Given the description of an element on the screen output the (x, y) to click on. 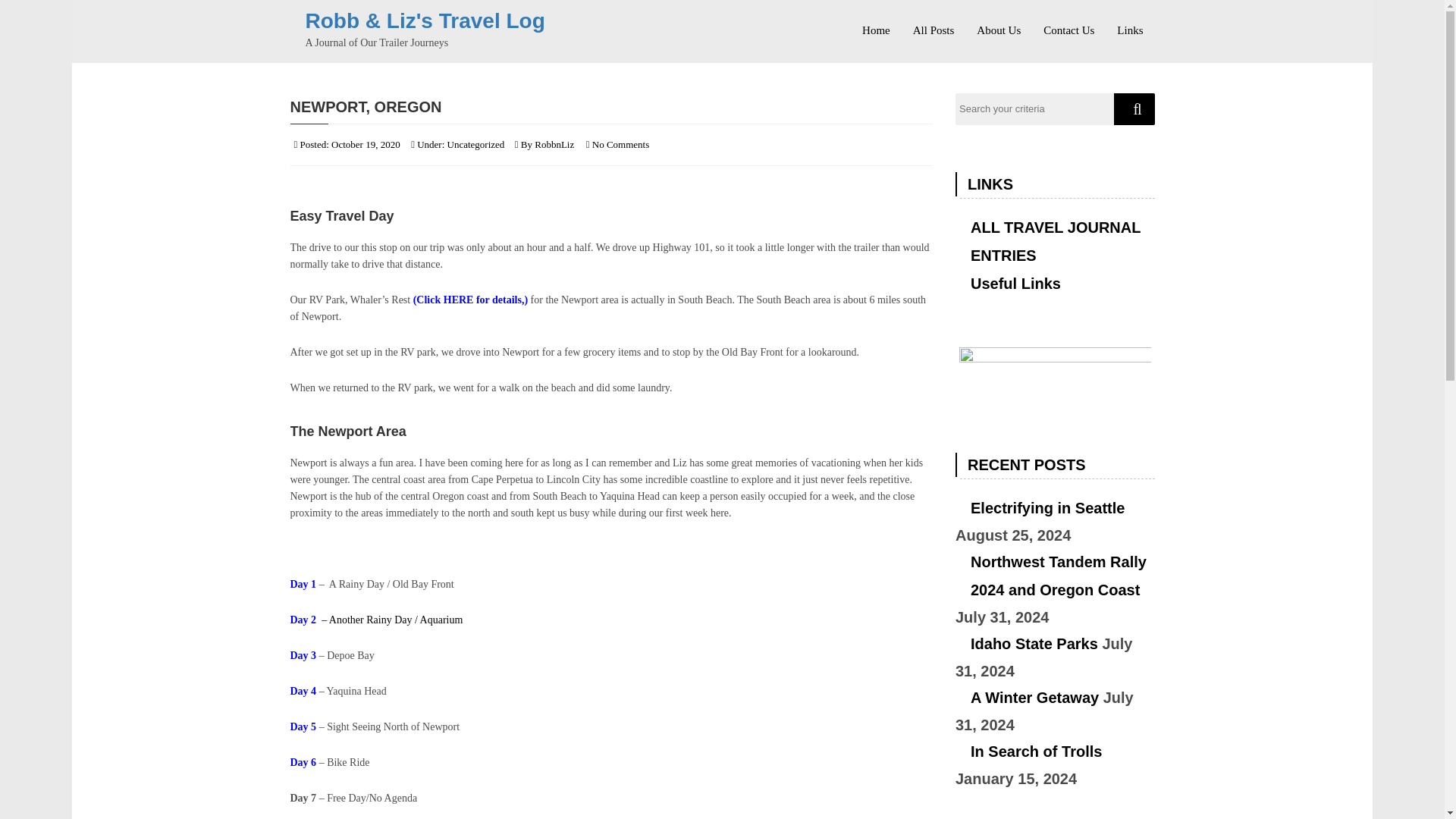
Day 5 (302, 726)
Day 1 (302, 583)
In Search of Trolls (1028, 751)
Electrifying in Seattle (1039, 508)
A Winter Getaway (1027, 697)
About Us (998, 24)
Uncategorized (475, 143)
Day 6 (302, 762)
Idaho State Parks (1026, 643)
RobbnLiz (554, 143)
